Given the description of an element on the screen output the (x, y) to click on. 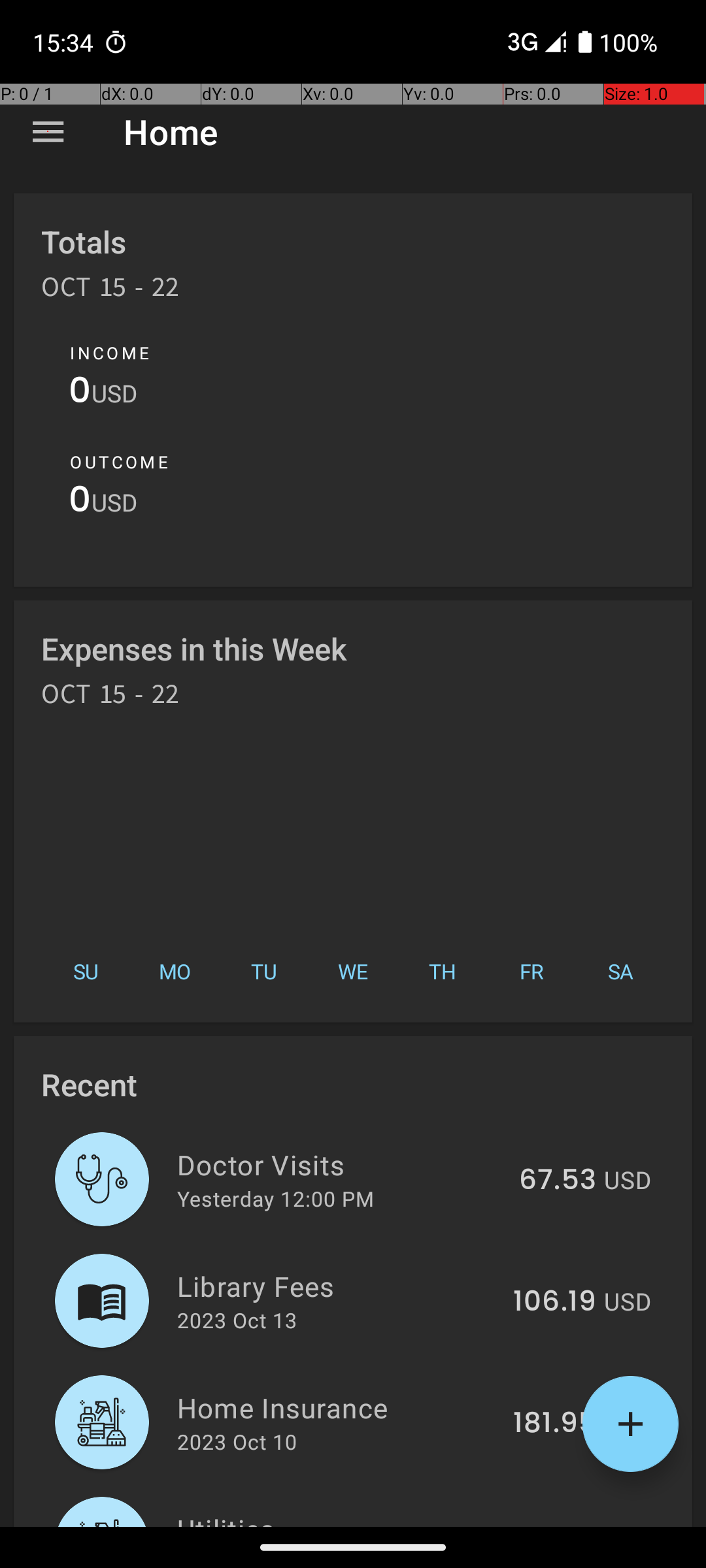
Yesterday 12:00 PM Element type: android.widget.TextView (275, 1198)
67.53 Element type: android.widget.TextView (557, 1180)
106.19 Element type: android.widget.TextView (554, 1301)
Home Insurance Element type: android.widget.TextView (337, 1407)
181.95 Element type: android.widget.TextView (554, 1423)
Utilities Element type: android.widget.TextView (332, 1518)
274.34 Element type: android.widget.TextView (549, 1524)
